Given the description of an element on the screen output the (x, y) to click on. 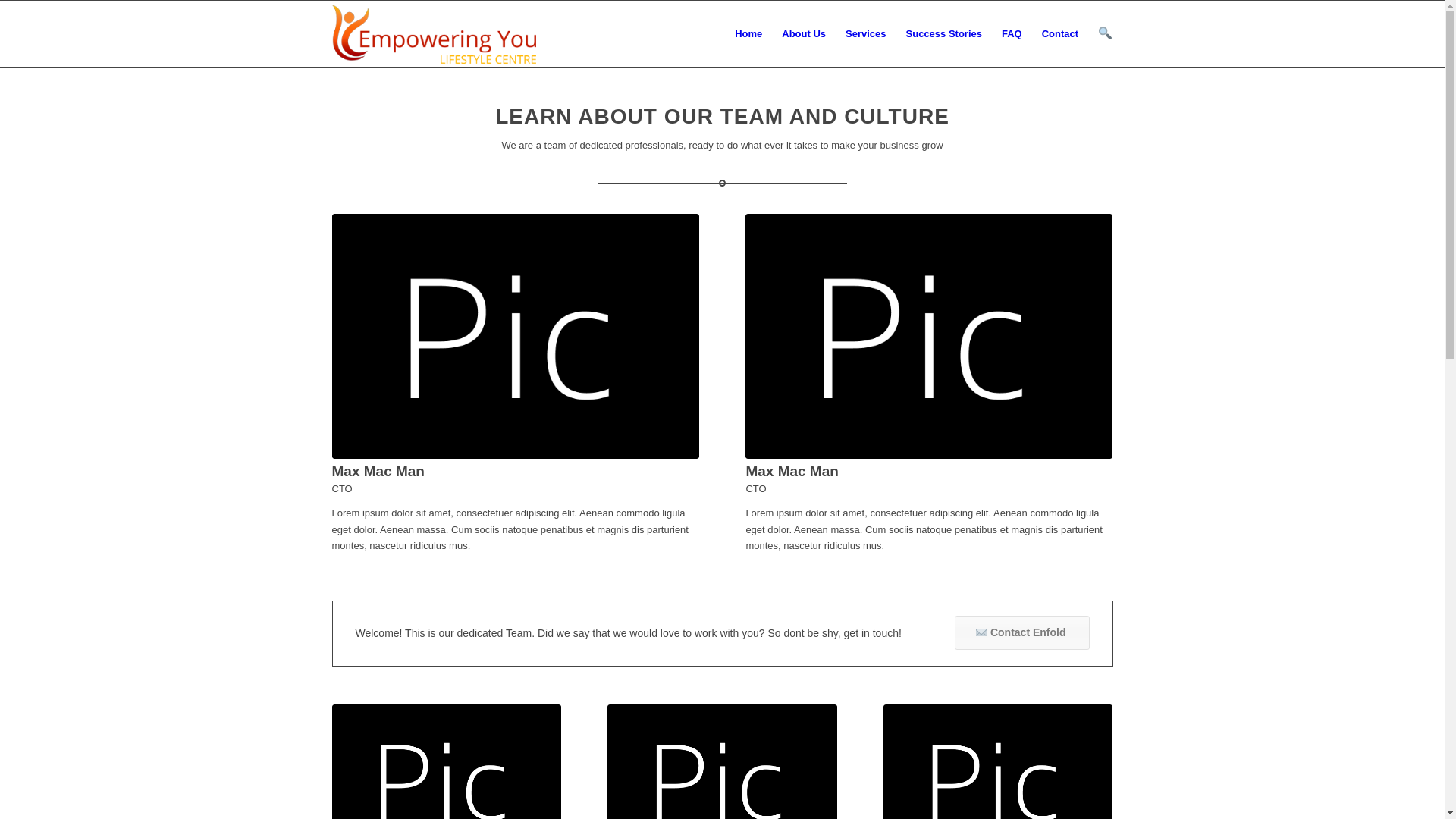
Contact Enfold Element type: text (1021, 632)
Success Stories Element type: text (943, 33)
Services Element type: text (865, 33)
Contact Element type: text (1060, 33)
FAQ Element type: text (1011, 33)
About Us Element type: text (803, 33)
Home Element type: text (747, 33)
